Given the description of an element on the screen output the (x, y) to click on. 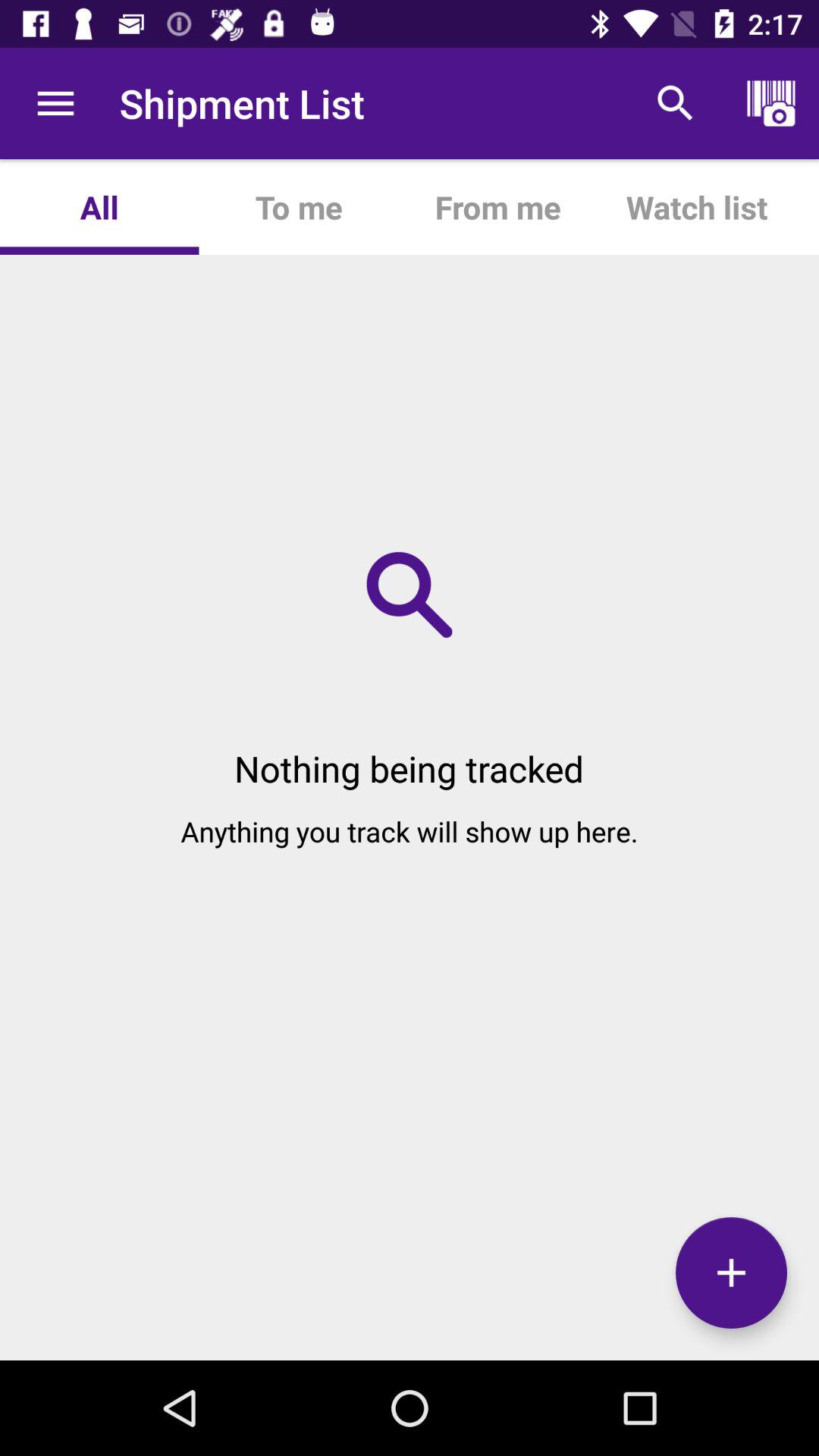
scroll until the from me app (497, 206)
